Given the description of an element on the screen output the (x, y) to click on. 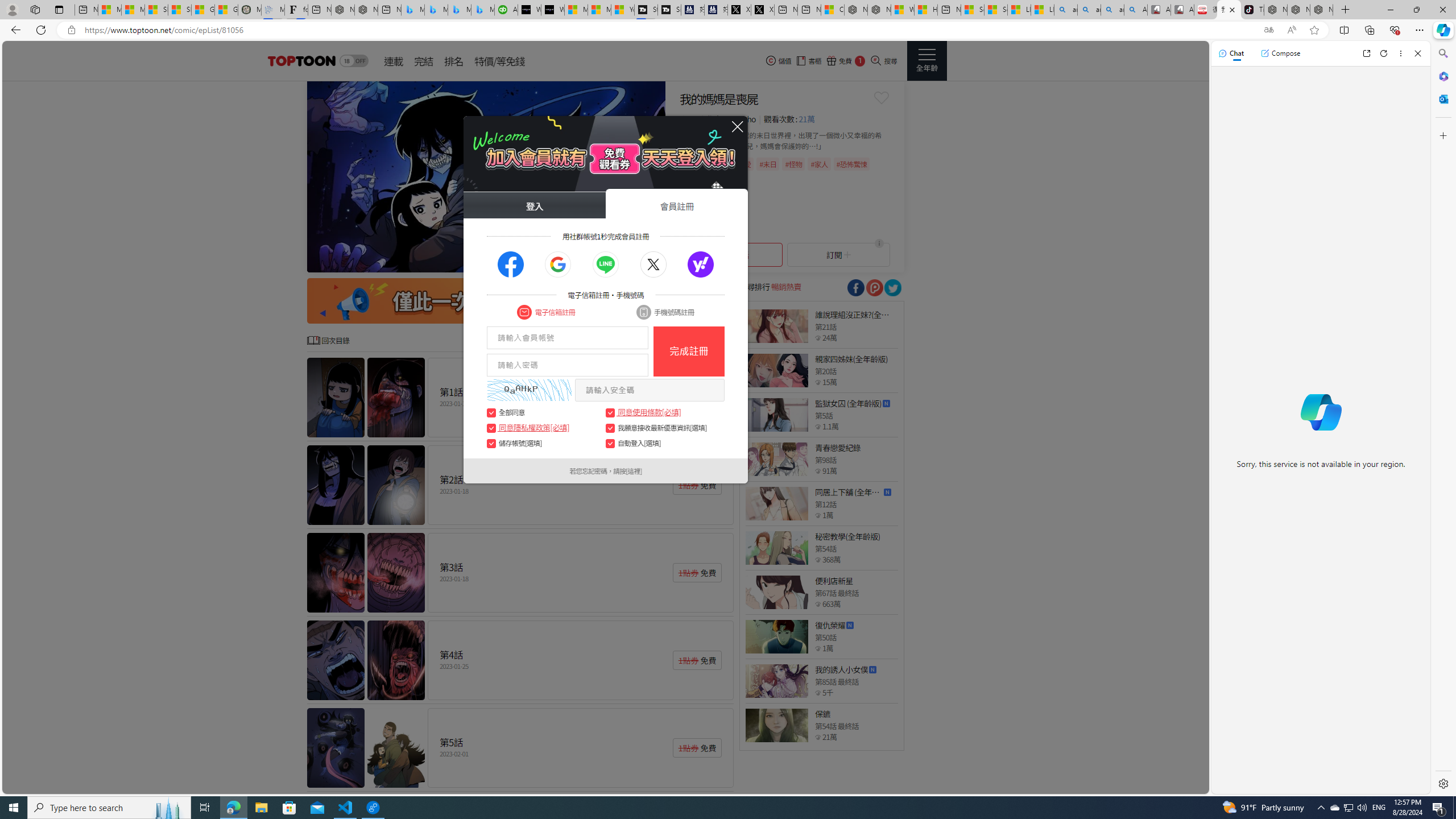
Class: swiper-slide swiper-slide-duplicate-next (486, 176)
Go to slide 9 (642, 261)
